Given the description of an element on the screen output the (x, y) to click on. 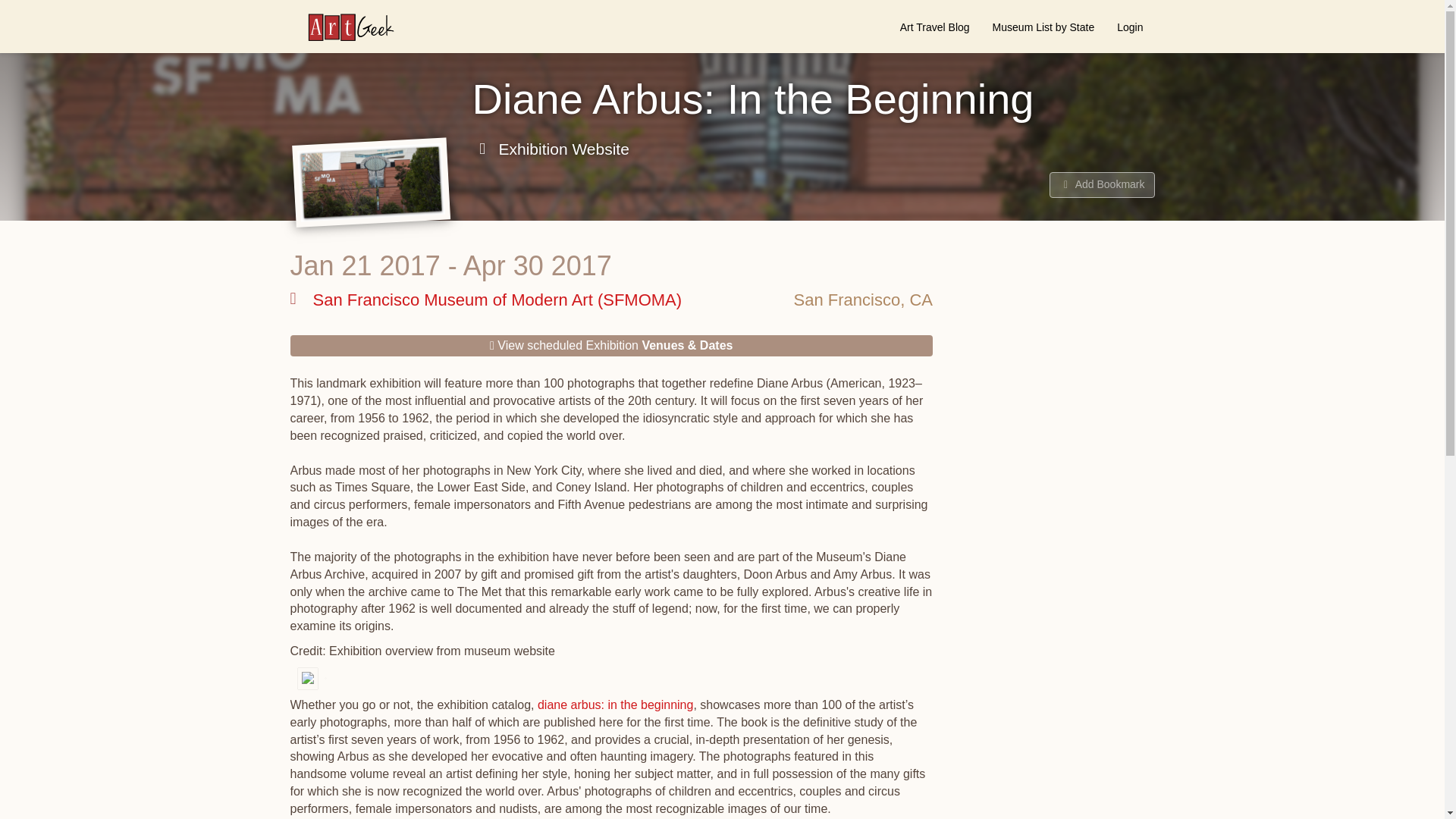
Exhibition Website (549, 149)
Museum List by State (1043, 26)
Login (1129, 26)
Add Bookmark (1101, 184)
Art Travel Blog (934, 26)
ArtGeek (343, 26)
diane arbus: in the beginning (615, 704)
